Given the description of an element on the screen output the (x, y) to click on. 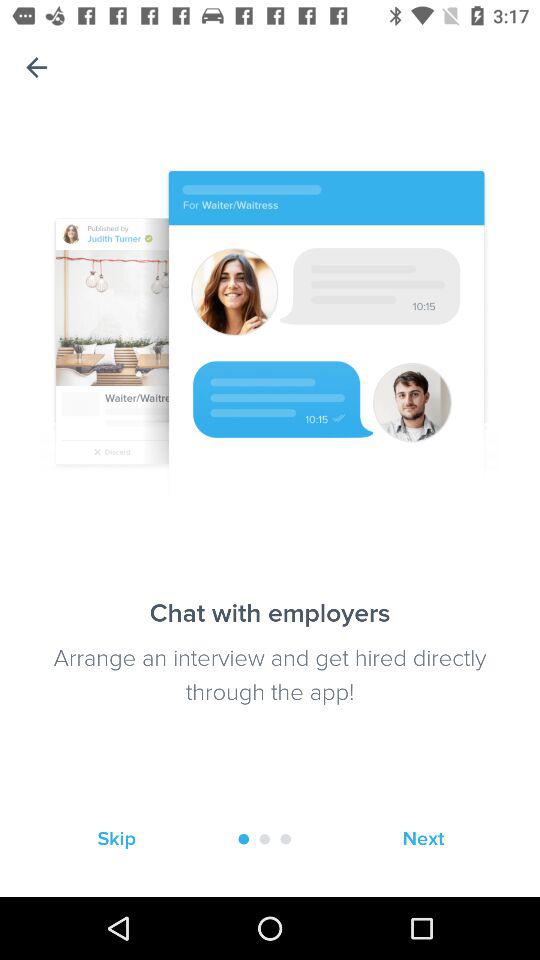
flip to next item (423, 838)
